Given the description of an element on the screen output the (x, y) to click on. 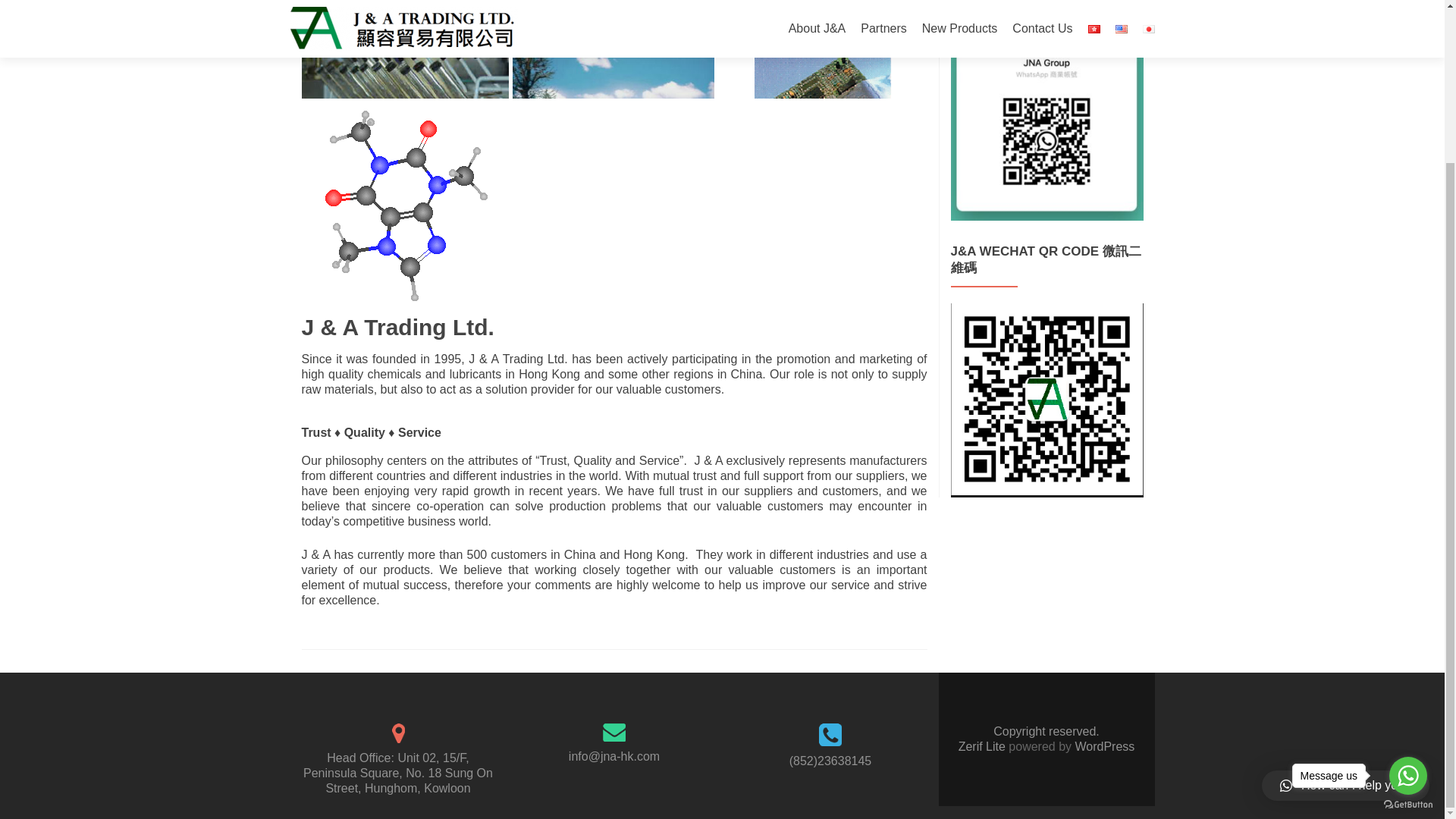
WordPress (1102, 746)
Zerif Lite (983, 746)
Whatsapp QR Code (1046, 119)
